Given the description of an element on the screen output the (x, y) to click on. 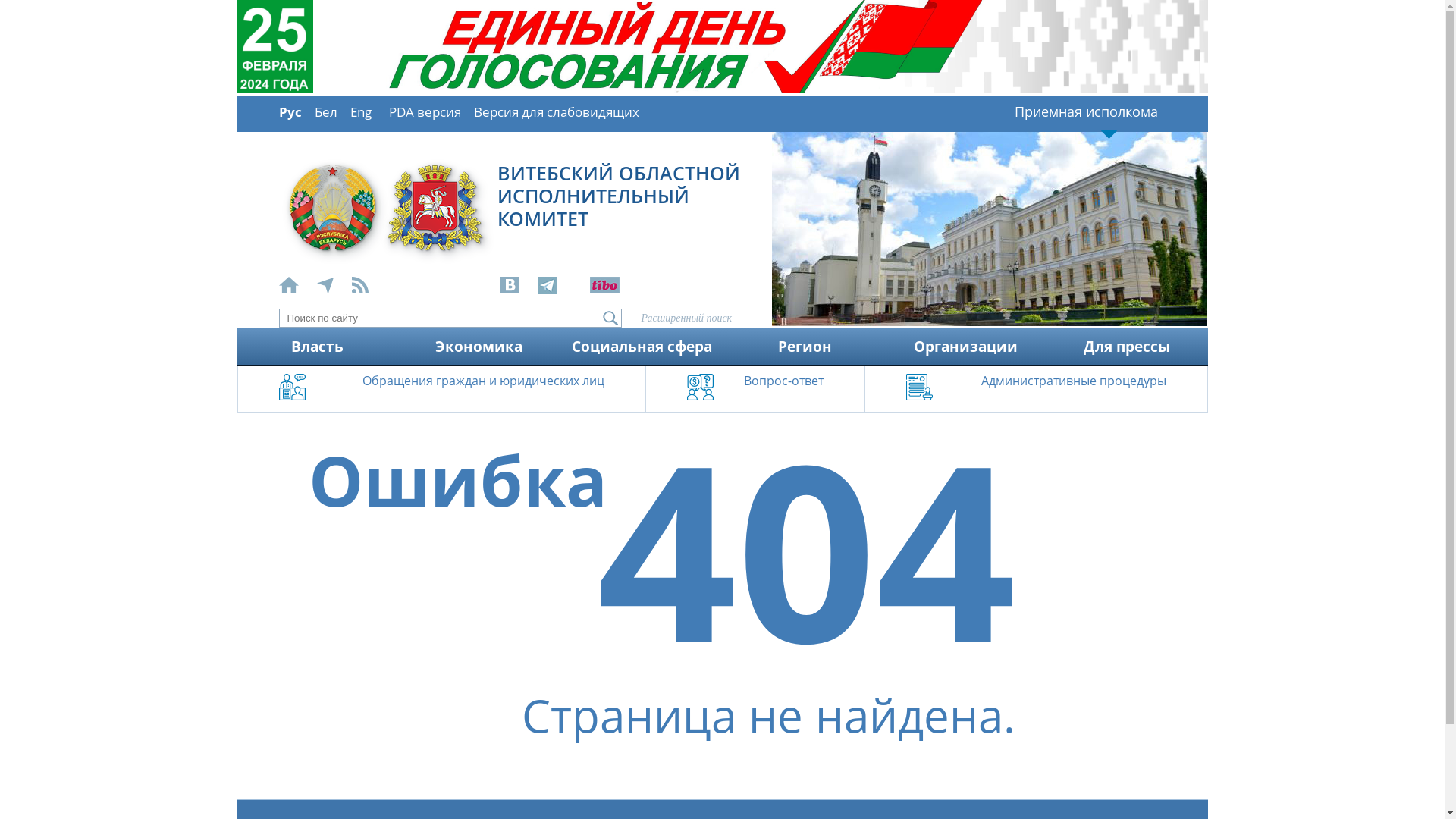
RSS Element type: hover (359, 284)
RSS Element type: hover (368, 286)
Eng Element type: text (360, 111)
